Given the description of an element on the screen output the (x, y) to click on. 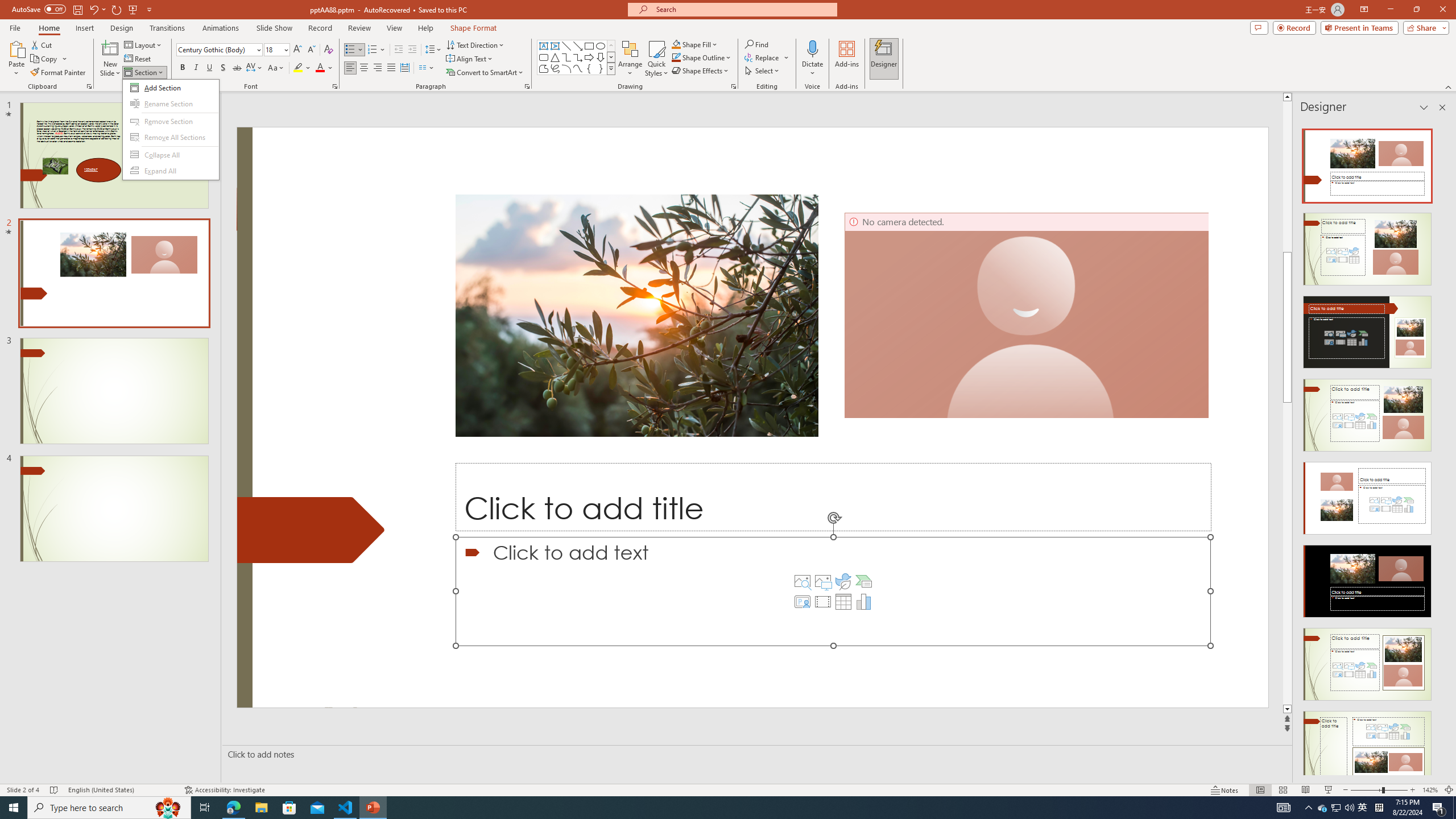
Close up of an olive branch on a sunset.  (636, 315)
